Given the description of an element on the screen output the (x, y) to click on. 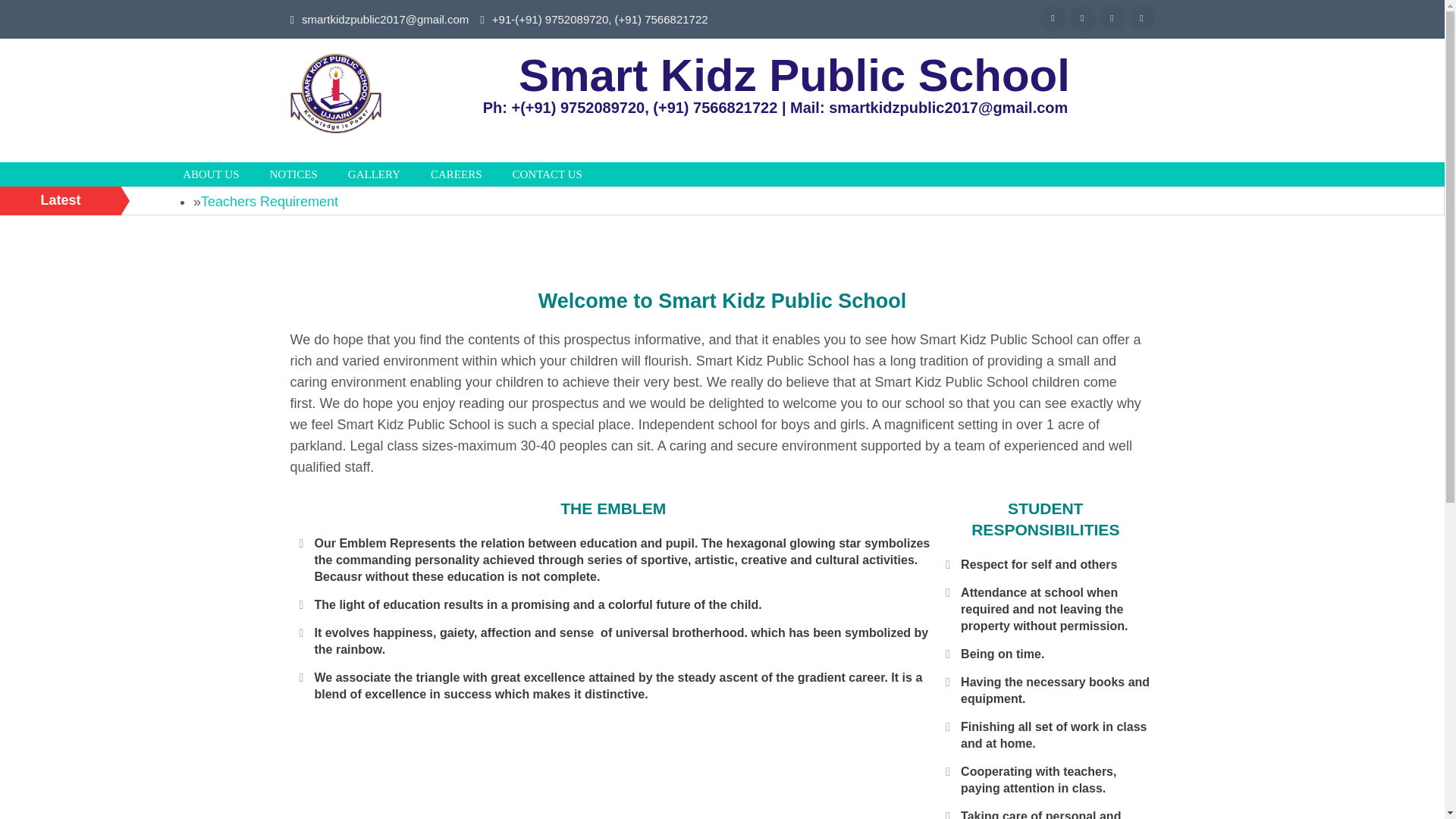
GALLERY (373, 174)
Facebook (1053, 17)
instagram (1112, 17)
CONTACT US (547, 174)
HOME (135, 174)
Twitter (1081, 17)
Teachers Requirement (268, 201)
ABOUT US (211, 174)
Smart Kidz Public School (432, 151)
YouTube (1141, 17)
